Given the description of an element on the screen output the (x, y) to click on. 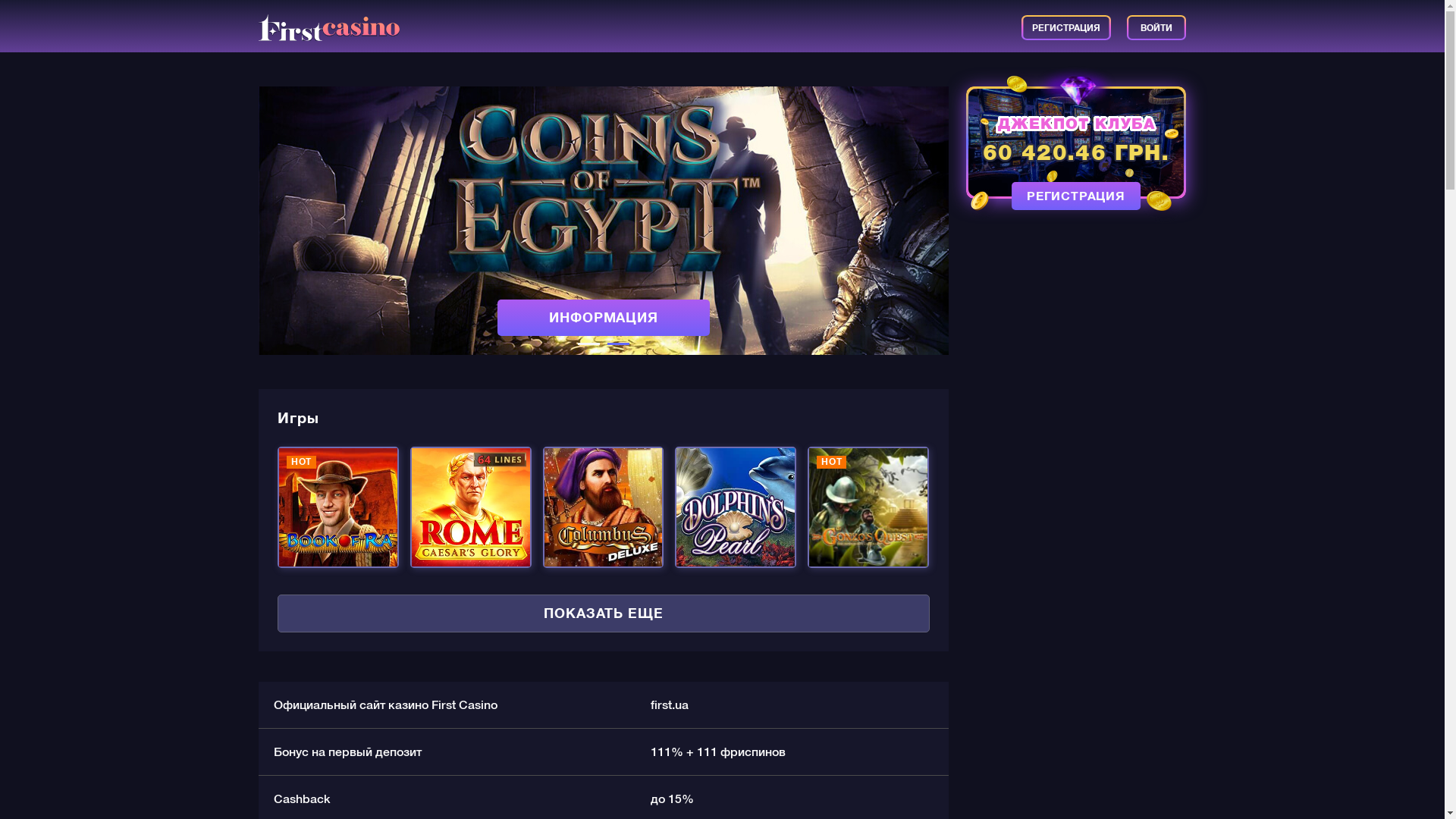
1 Element type: text (588, 343)
2 Element type: text (618, 343)
first.ua Element type: text (669, 704)
